Given the description of an element on the screen output the (x, y) to click on. 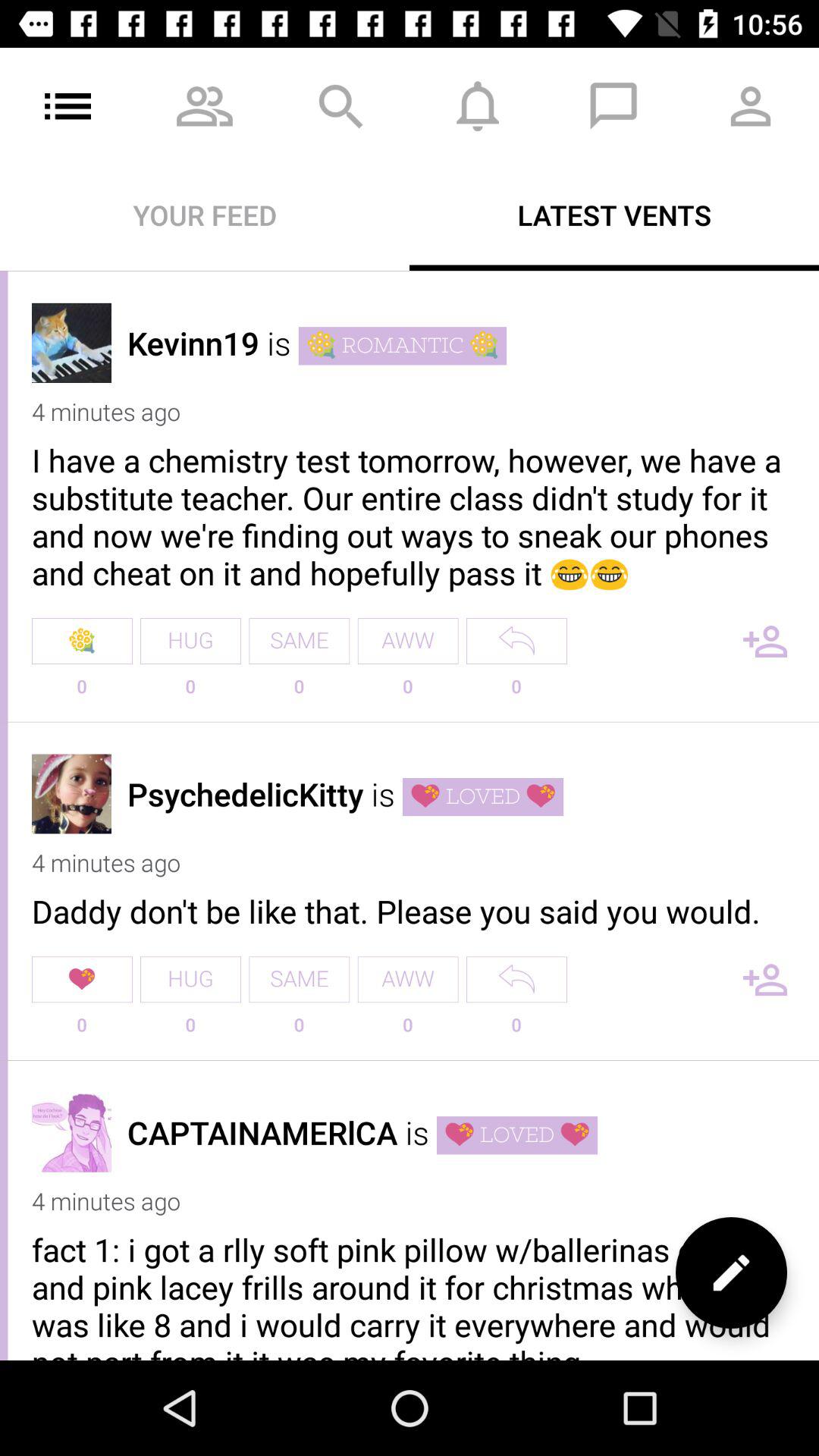
profile picture (71, 793)
